Given the description of an element on the screen output the (x, y) to click on. 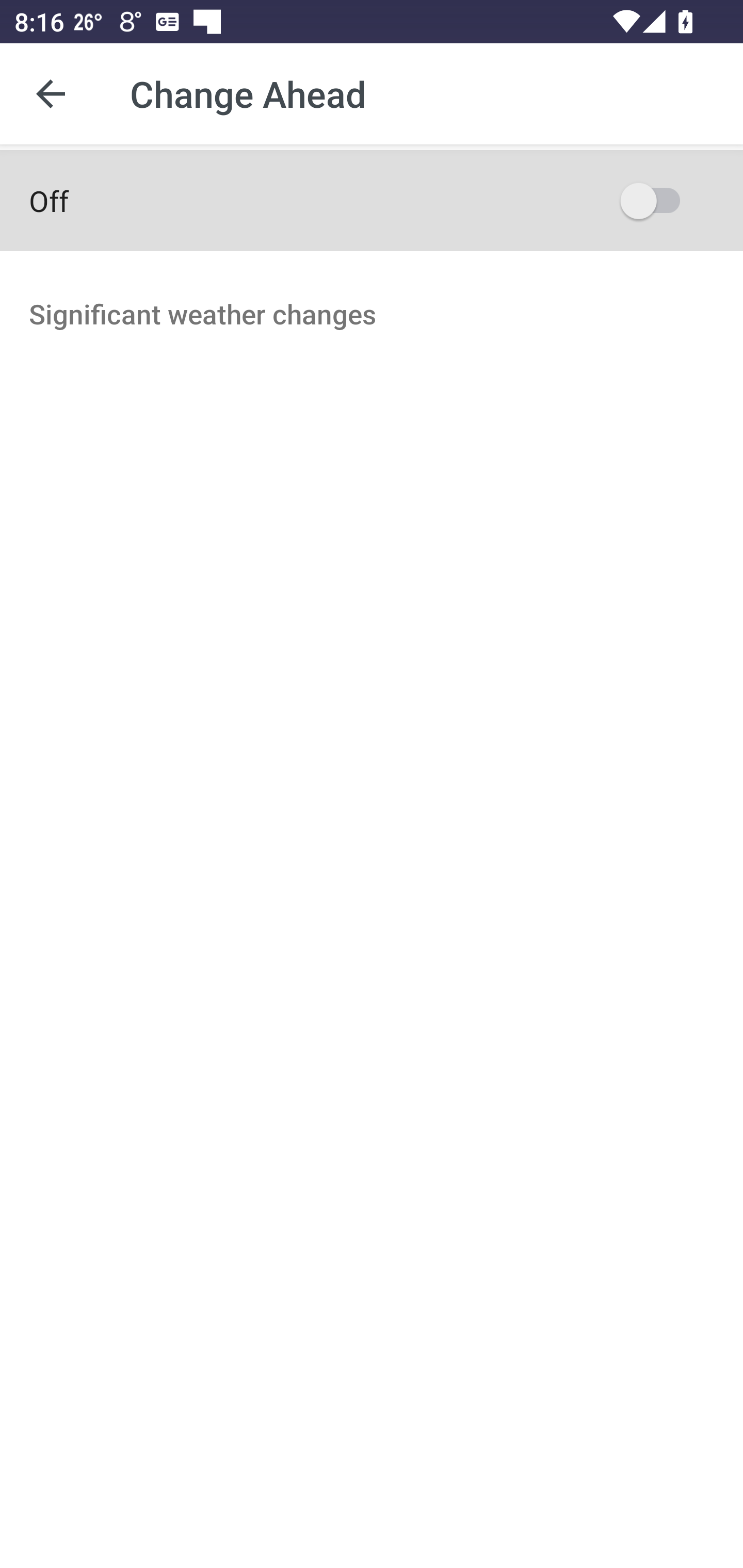
Navigate up (50, 93)
Off (371, 200)
